Given the description of an element on the screen output the (x, y) to click on. 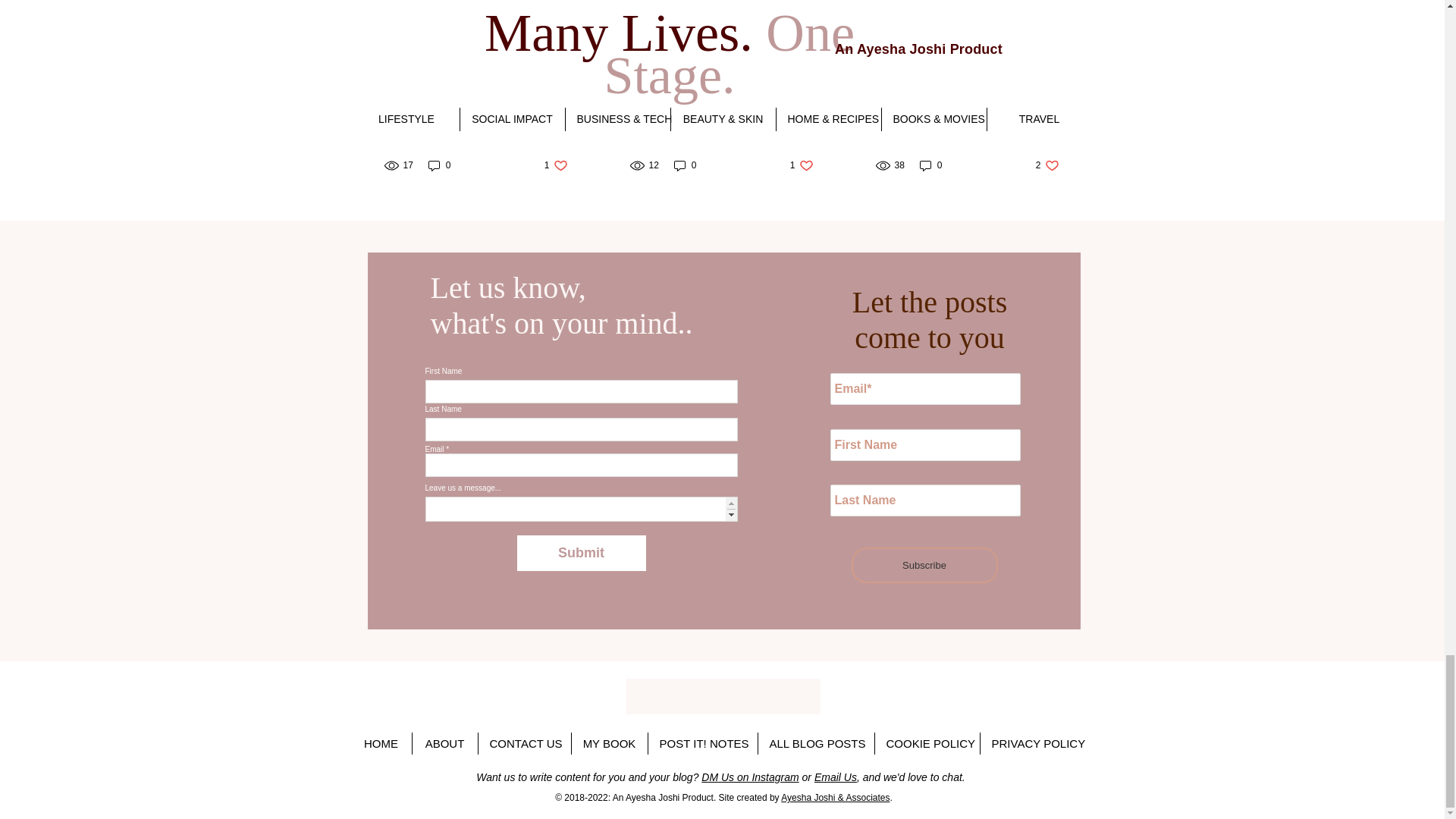
Submit (581, 552)
A Lost Piece From Heaven (475, 104)
Subscribe (923, 565)
0 (555, 165)
0 (439, 165)
0 (801, 165)
5 Places To Go in Barcelona, Spain (685, 165)
